Given the description of an element on the screen output the (x, y) to click on. 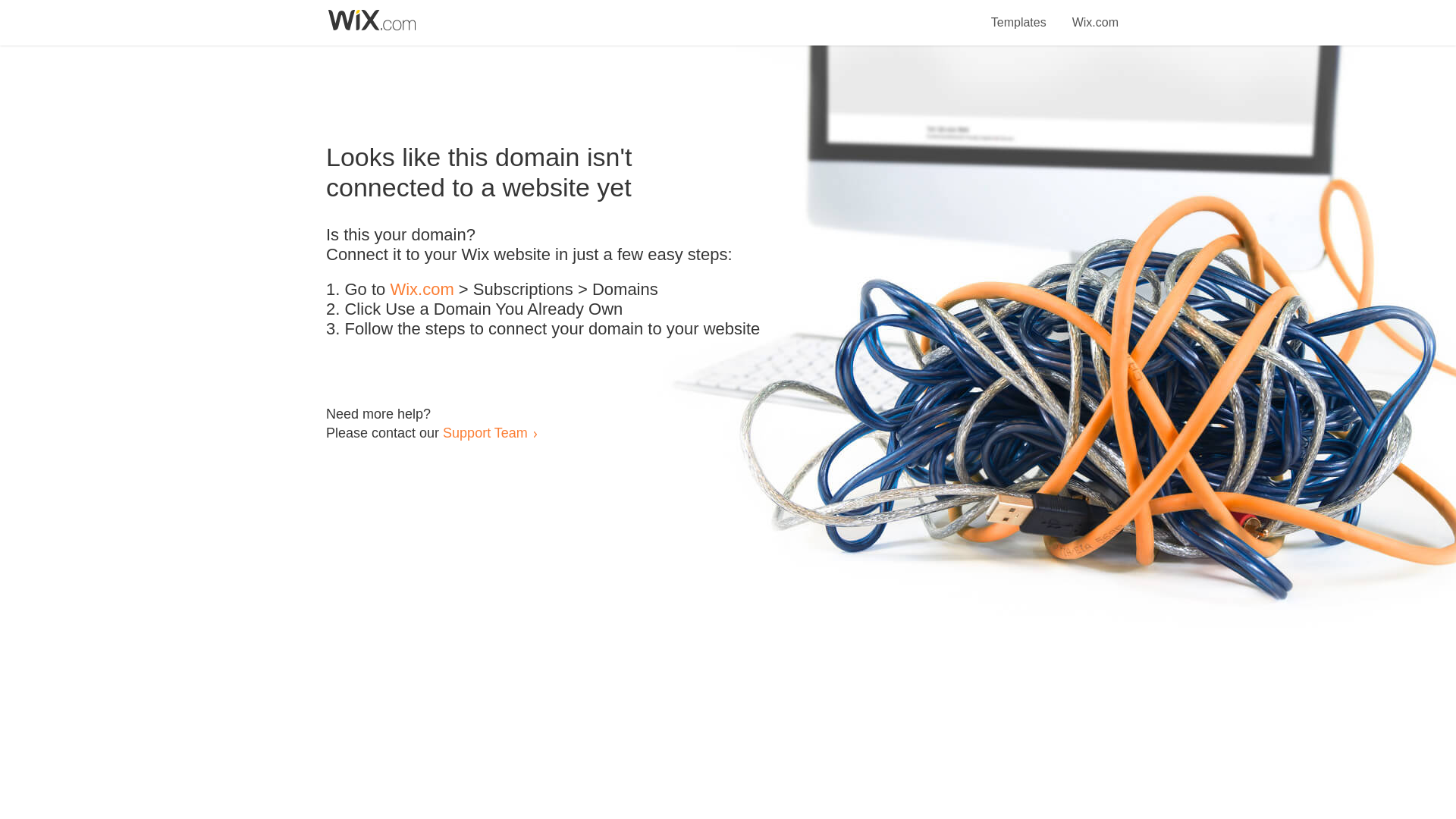
Wix.com (1095, 14)
Wix.com (421, 289)
Support Team (484, 432)
Templates (1018, 14)
